Given the description of an element on the screen output the (x, y) to click on. 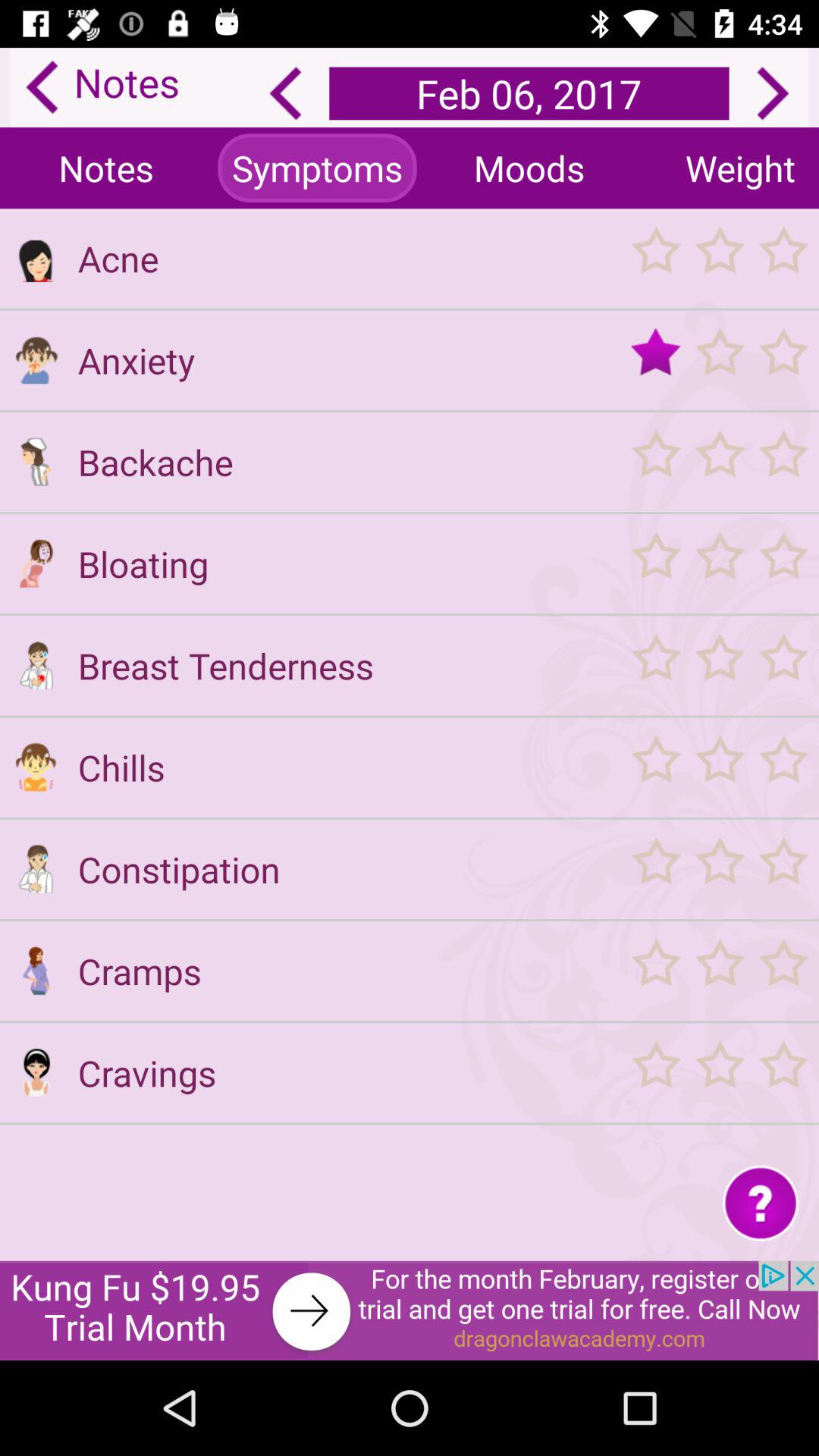
go to advert (409, 1310)
